Given the description of an element on the screen output the (x, y) to click on. 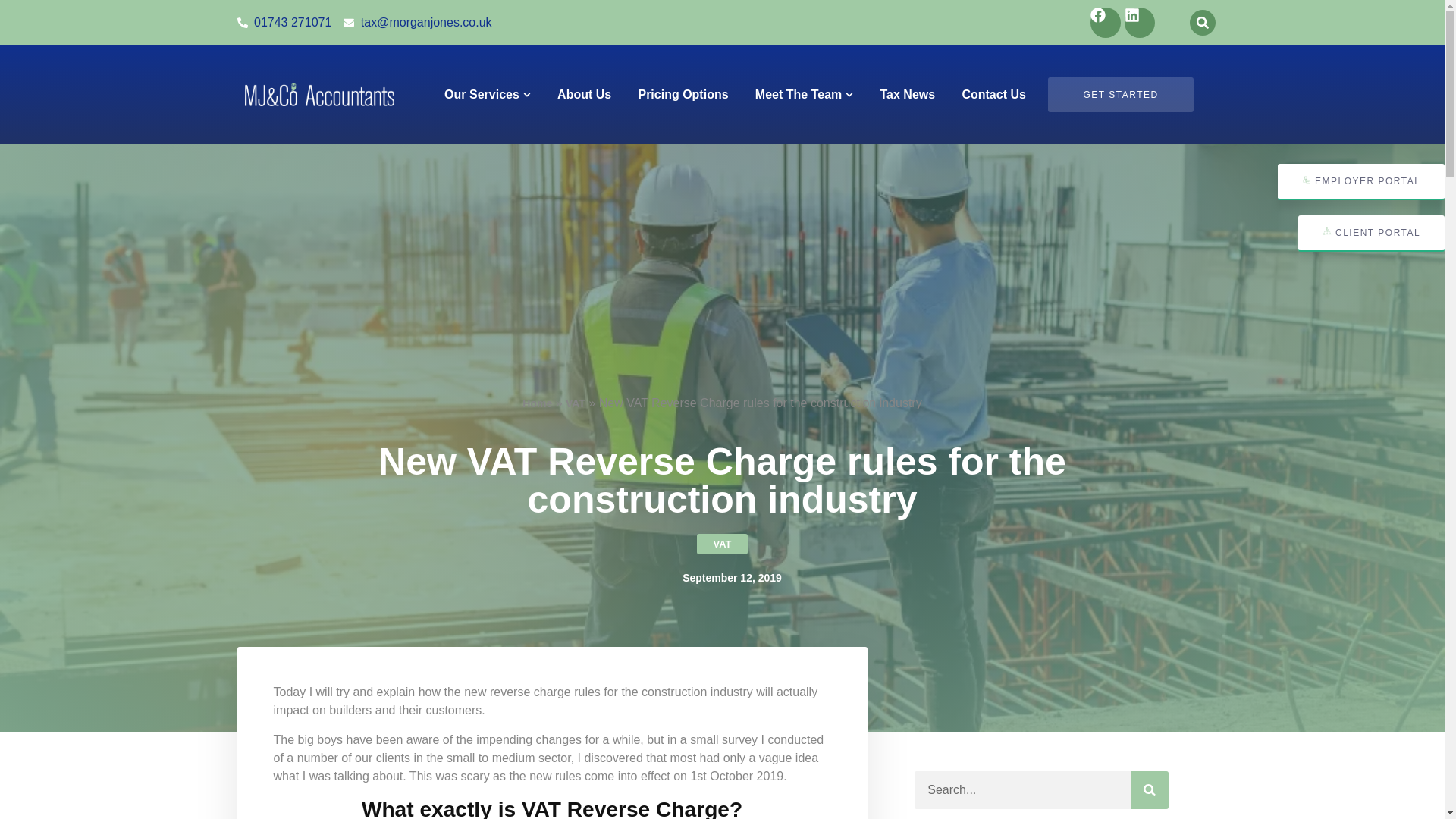
Meet The Team (798, 94)
About Us (584, 94)
Contact Us (992, 94)
Tax News (908, 94)
Our Services (481, 94)
Pricing Options (682, 94)
01743 271071 (283, 22)
